Given the description of an element on the screen output the (x, y) to click on. 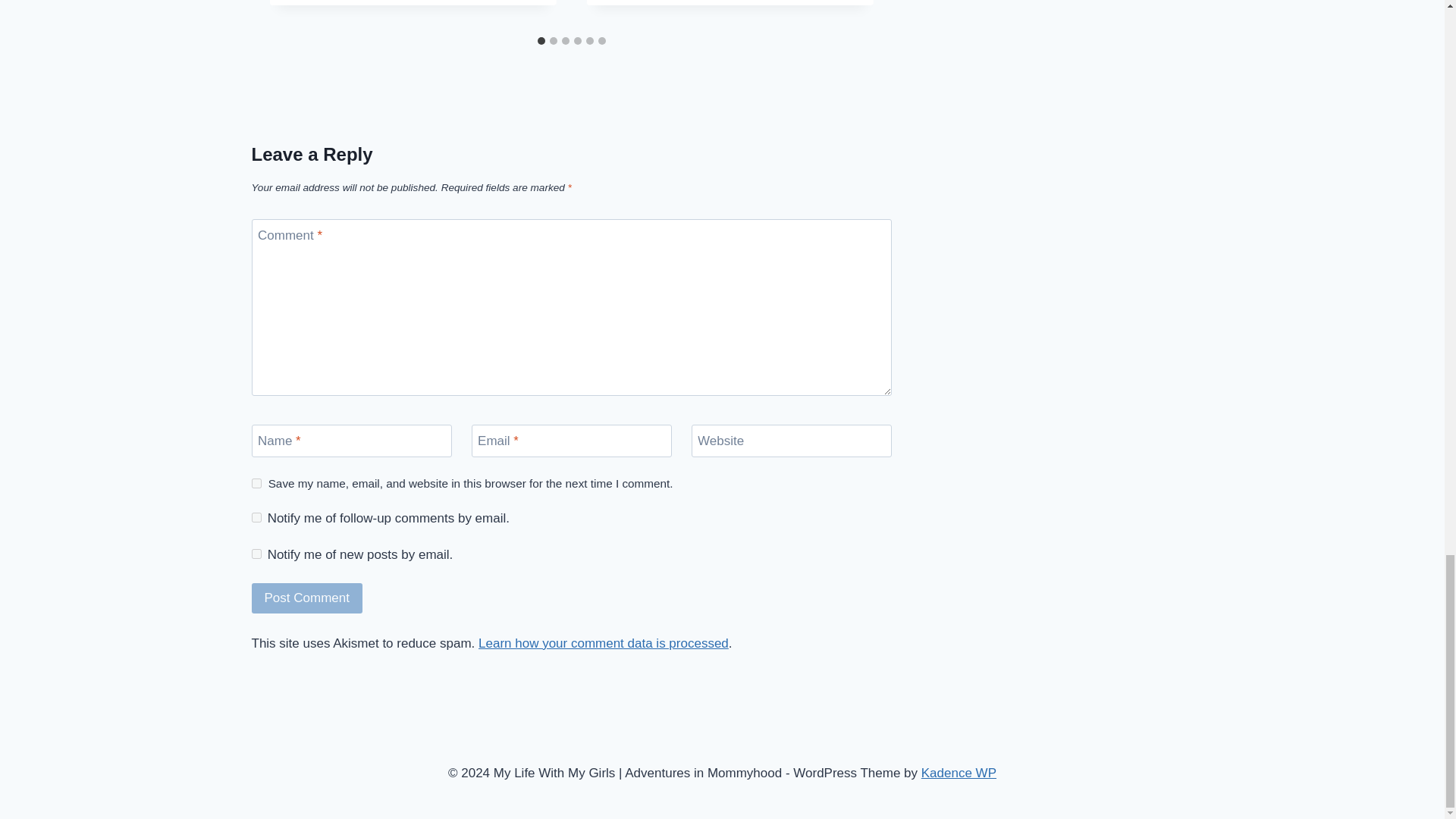
subscribe (256, 517)
yes (256, 483)
Post Comment (306, 598)
subscribe (256, 553)
